Given the description of an element on the screen output the (x, y) to click on. 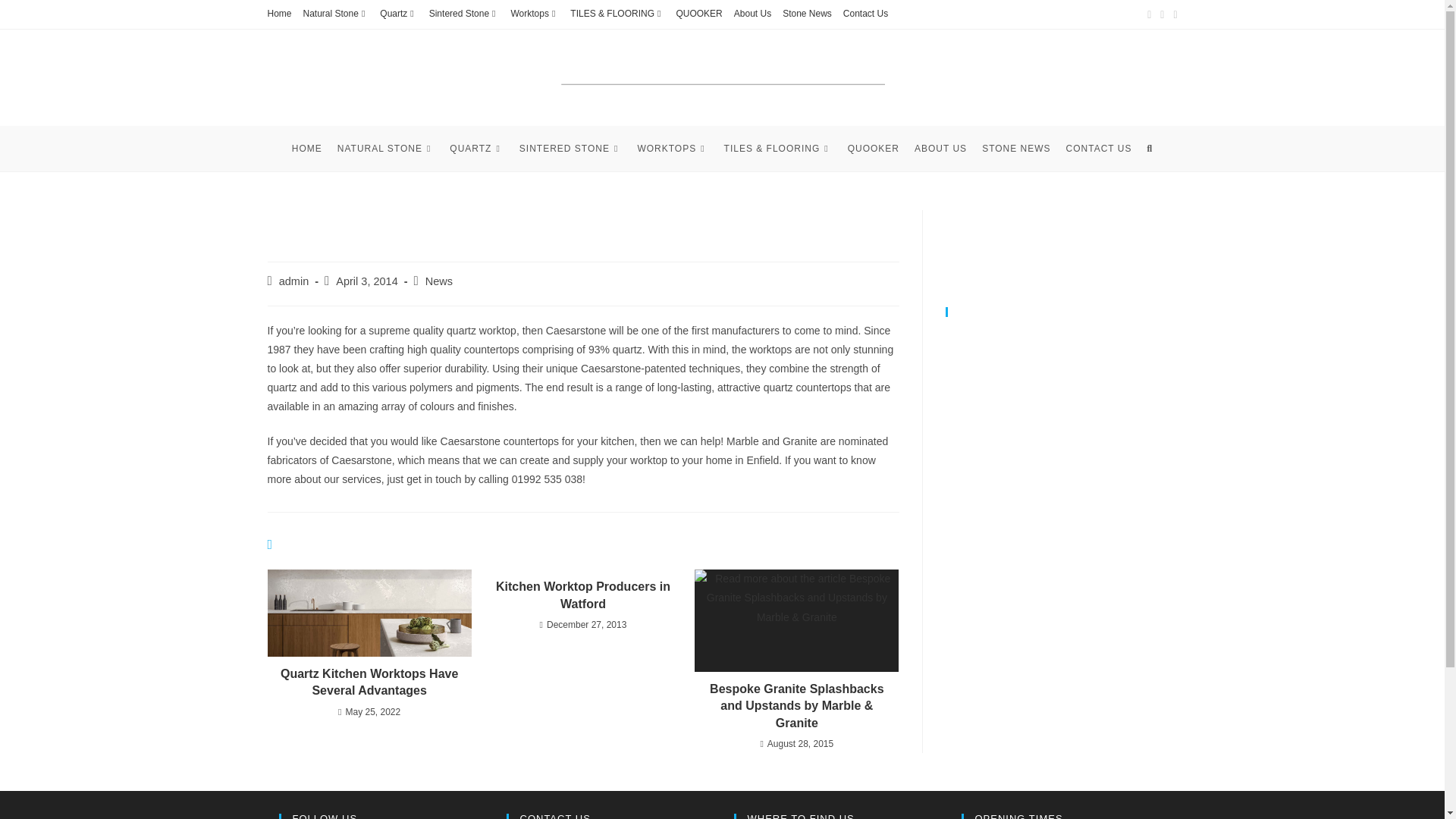
Posts by admin (293, 281)
Natural Stone (335, 13)
Stone News (807, 13)
Worktops (535, 13)
About Us (752, 13)
Home (278, 13)
Sintered Stone (464, 13)
QUOOKER (698, 13)
Quartz (398, 13)
Contact Us (865, 13)
